Given the description of an element on the screen output the (x, y) to click on. 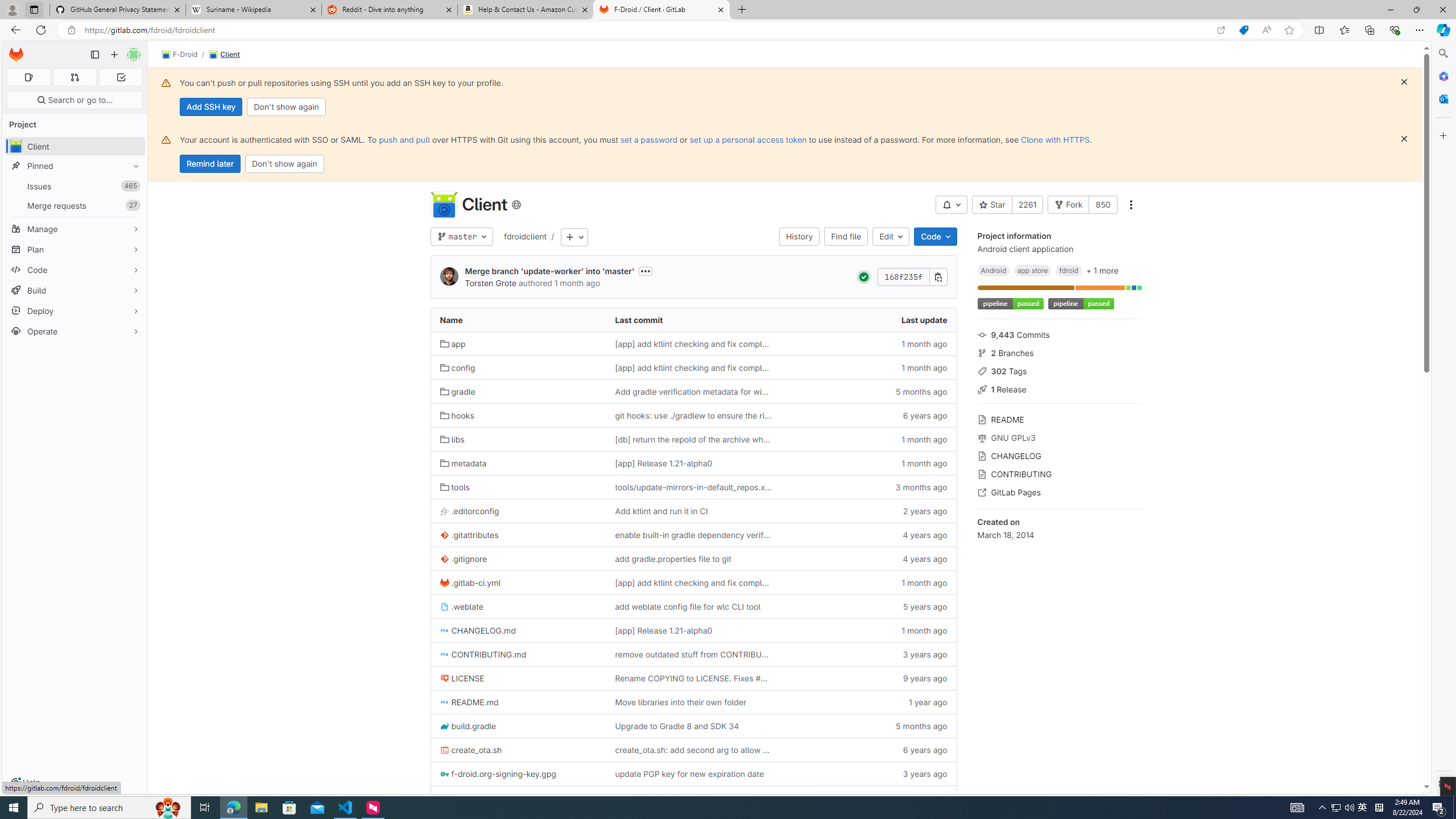
fdroidclient (525, 236)
Plan (74, 248)
GitLab Pages (1058, 491)
F-Droid/ (185, 54)
Client (224, 54)
gradle (457, 391)
GitHub General Privacy Statement - GitHub Docs (117, 9)
Client (224, 54)
 Star (991, 204)
libs (451, 439)
